Given the description of an element on the screen output the (x, y) to click on. 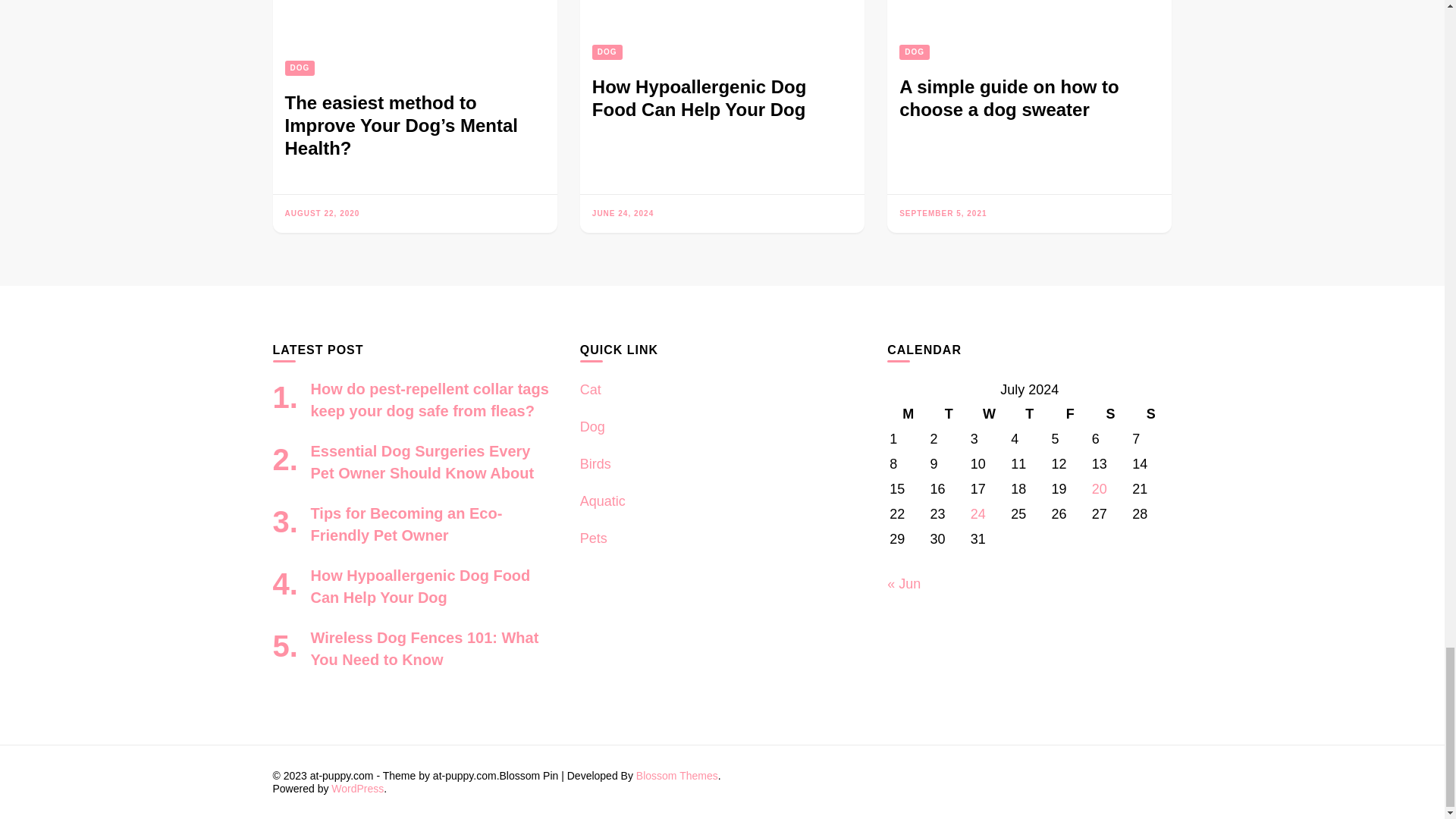
Wednesday (989, 413)
Tuesday (948, 413)
Friday (1069, 413)
Saturday (1109, 413)
Monday (907, 413)
Thursday (1029, 413)
Sunday (1150, 413)
